Given the description of an element on the screen output the (x, y) to click on. 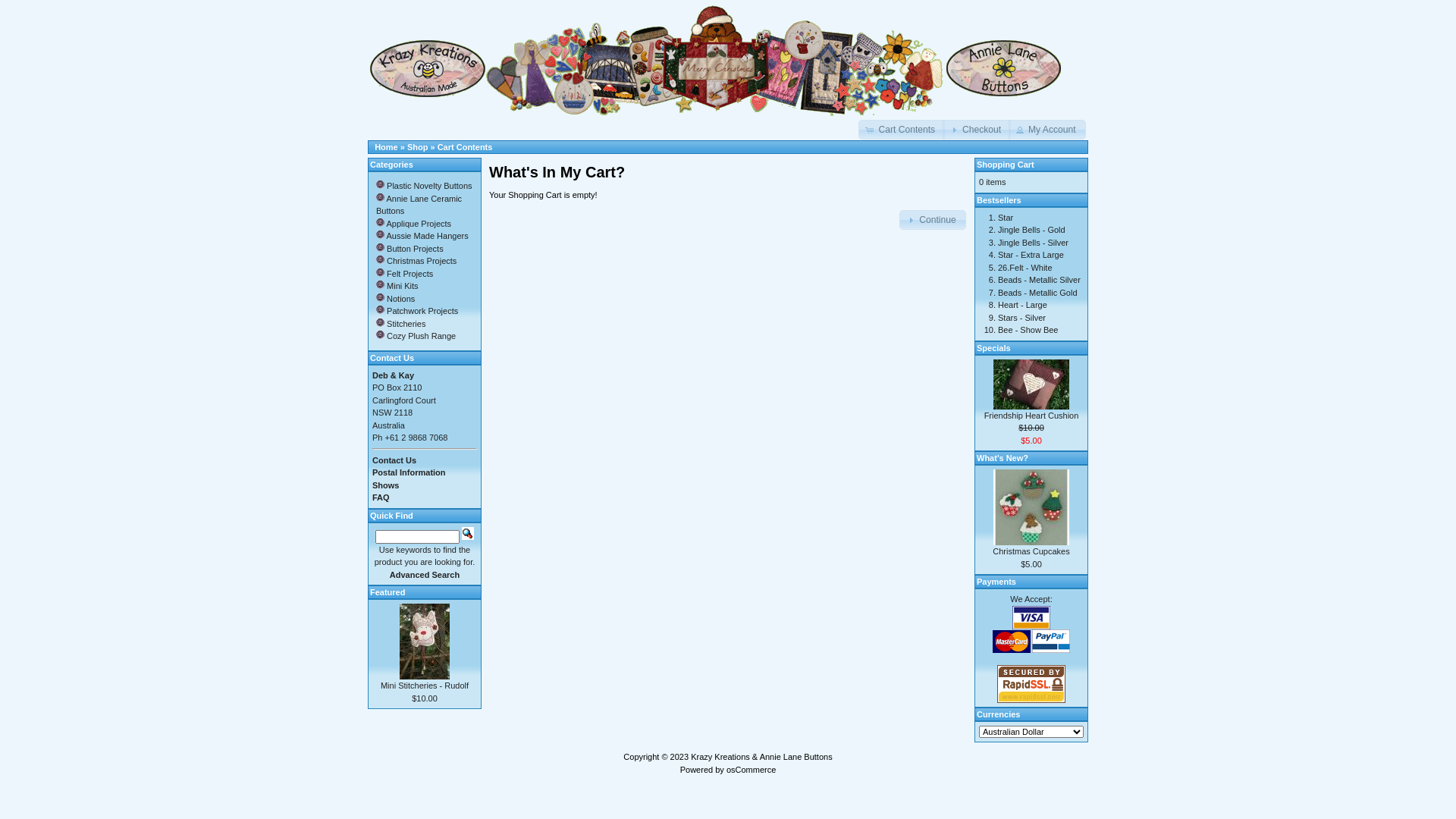
Star Element type: text (1005, 216)
 Annie Lane Ceramic Buttons Element type: text (418, 205)
 Christmas Projects Element type: text (416, 260)
Specials Element type: text (993, 346)
Contact Us Element type: text (394, 459)
Featured Element type: text (387, 591)
What's New? Element type: text (1002, 457)
MasterCard Element type: hover (1011, 640)
Shop Element type: text (417, 146)
Star - Extra Large Element type: text (1030, 254)
Cart Contents Element type: text (464, 146)
Visa Element type: hover (1031, 616)
Continue Element type: text (932, 219)
Advanced Search Element type: text (424, 574)
Krazy Kreations & Annie Lane Buttons Element type: hover (716, 59)
Jingle Bells - Gold Element type: text (1031, 229)
Stars - Silver Element type: text (1021, 316)
Heart - Large Element type: text (1022, 304)
 Mini Kits Element type: text (397, 285)
Home Element type: text (386, 146)
Jingle Bells - Silver Element type: text (1032, 242)
Shopping Cart Element type: text (1005, 164)
Christmas Cupcakes Element type: text (1030, 550)
 Stitcheries Element type: text (400, 322)
26.Felt - White Element type: text (1024, 266)
Mini Stitcheries - Rudolf Element type: hover (424, 641)
 Applique Projects Element type: text (413, 222)
Bee - Show Bee Element type: text (1027, 329)
Friendship Heart Cushion Element type: hover (1031, 384)
Checkout Element type: text (976, 129)
 Quick Find  Element type: hover (467, 532)
osCommerce Element type: text (750, 768)
Postal Information Element type: text (408, 471)
 Plastic Novelty Buttons Element type: text (424, 185)
Friendship Heart Cushion Element type: text (1031, 415)
Mini Stitcheries - Rudolf Element type: text (424, 685)
Christmas Cupcakes Element type: hover (1031, 507)
 Felt Projects Element type: text (404, 272)
 Notions Element type: text (395, 298)
Beads - Metallic Gold Element type: text (1037, 292)
My Account Element type: text (1046, 129)
 Aussie Made Hangers Element type: text (422, 235)
 Cozy Plush Range Element type: text (415, 335)
Shows Element type: text (385, 484)
FAQ Element type: text (380, 497)
Cart Contents Element type: text (901, 129)
Beads - Metallic Silver Element type: text (1038, 279)
Krazy Kreations & Annie Lane Buttons Element type: text (761, 756)
 Button Projects Element type: text (409, 248)
 Patchwork Projects Element type: text (417, 310)
